Given the description of an element on the screen output the (x, y) to click on. 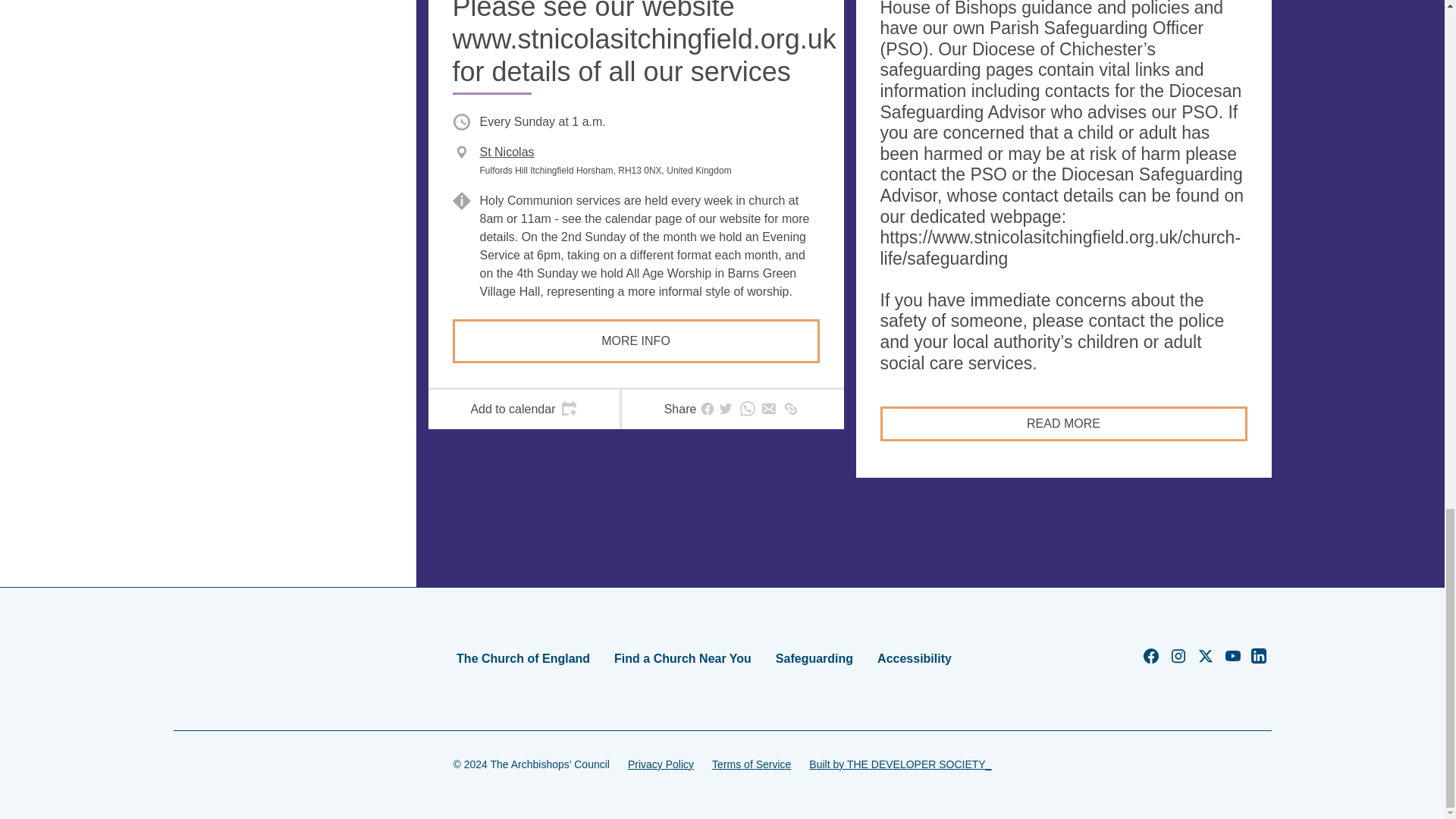
ACNY home (221, 658)
